Given the description of an element on the screen output the (x, y) to click on. 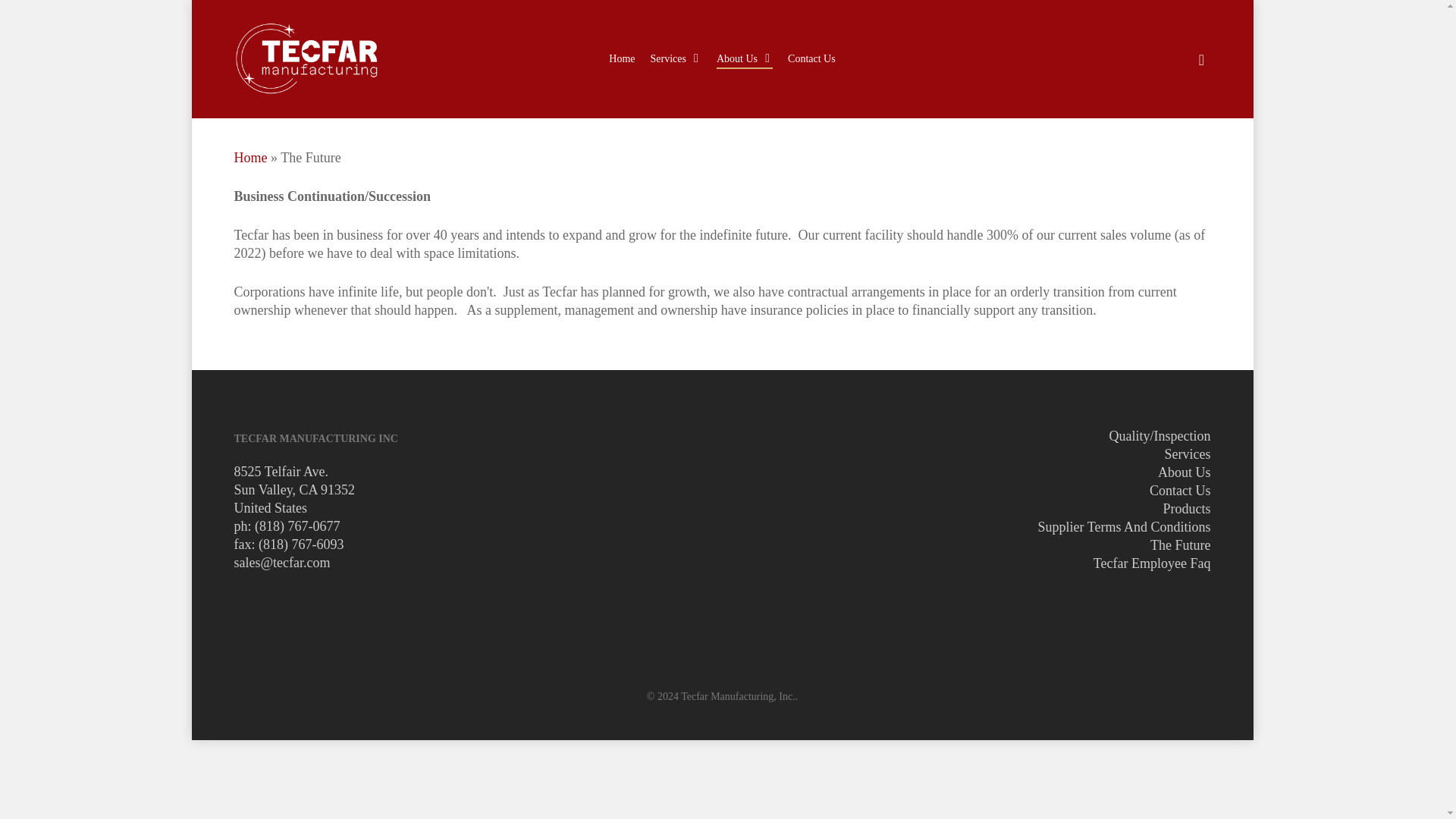
Contact Us (811, 58)
Services (675, 58)
Tecfar Employee Faq (1152, 563)
Contact Us (1180, 490)
Home (621, 58)
Supplier Terms And Conditions (1124, 526)
The Future (1179, 544)
Home (249, 157)
Products (1185, 508)
Services (1186, 453)
